Given the description of an element on the screen output the (x, y) to click on. 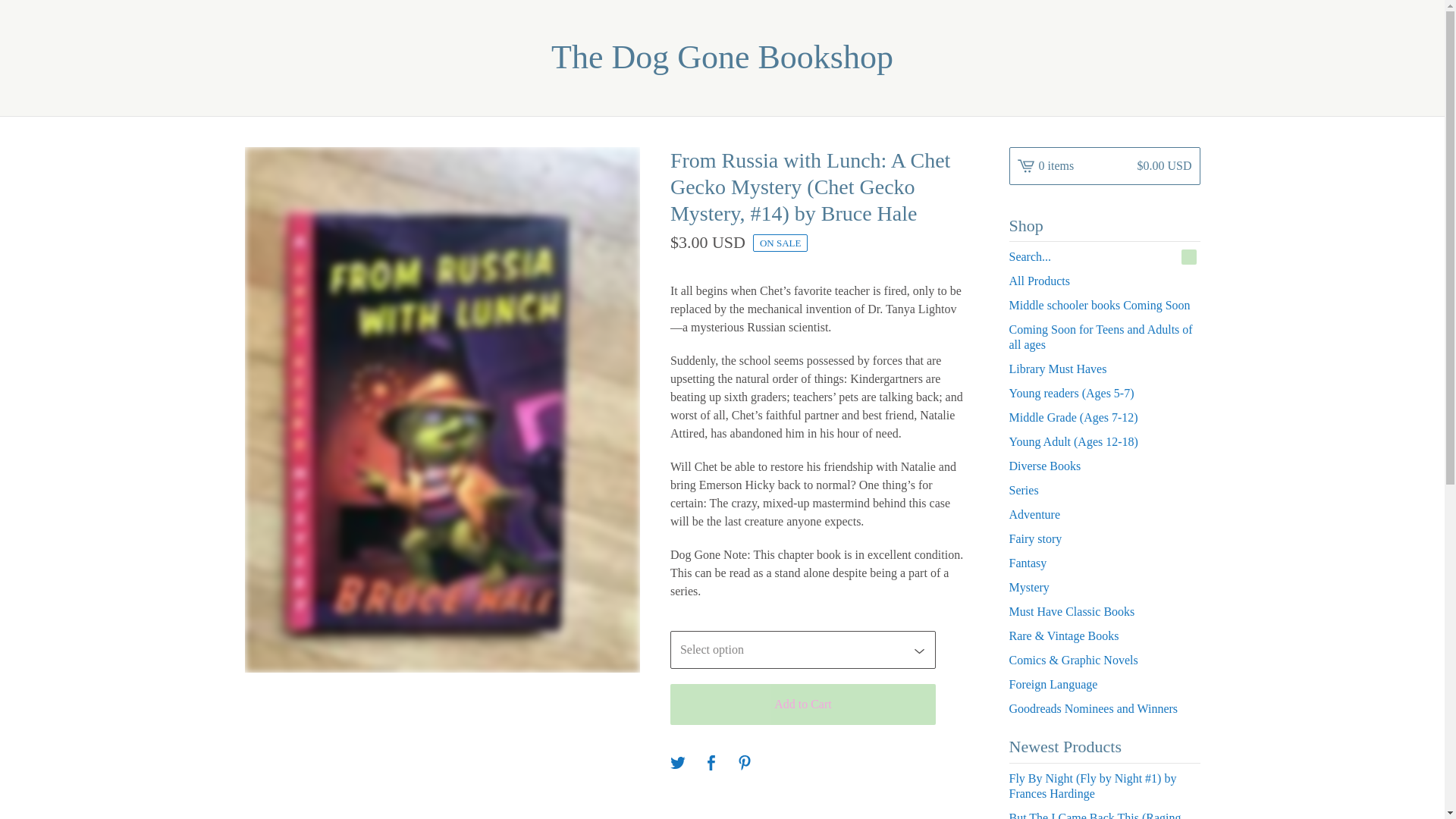
View Series (1104, 490)
Tweet (677, 764)
View Cart (1104, 166)
Adventure (1104, 514)
Library Must Haves (1104, 369)
View Middle schooler books Coming Soon  (1104, 305)
The Dog Gone Bookshop (722, 57)
Coming Soon for Teens and Adults of all ages (1104, 337)
View Diverse Books (1104, 466)
Fairy story (1104, 539)
Foreign Language (1104, 684)
Goodreads Nominees and Winners (1104, 708)
View Coming Soon for Teens and Adults of all ages (1104, 337)
Add to Cart (802, 703)
Diverse Books (1104, 466)
